Given the description of an element on the screen output the (x, y) to click on. 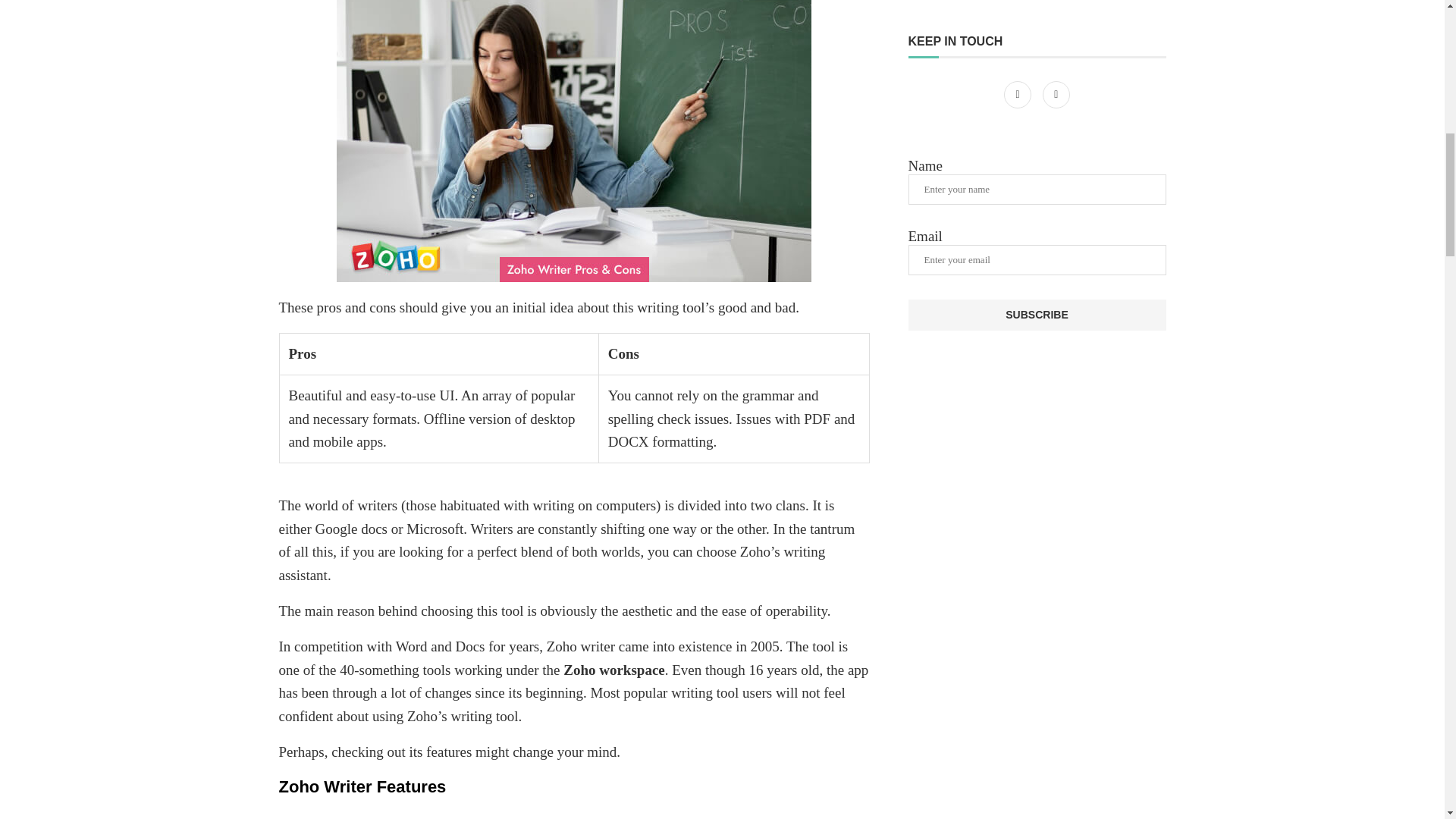
Subscribe (1037, 314)
